Given the description of an element on the screen output the (x, y) to click on. 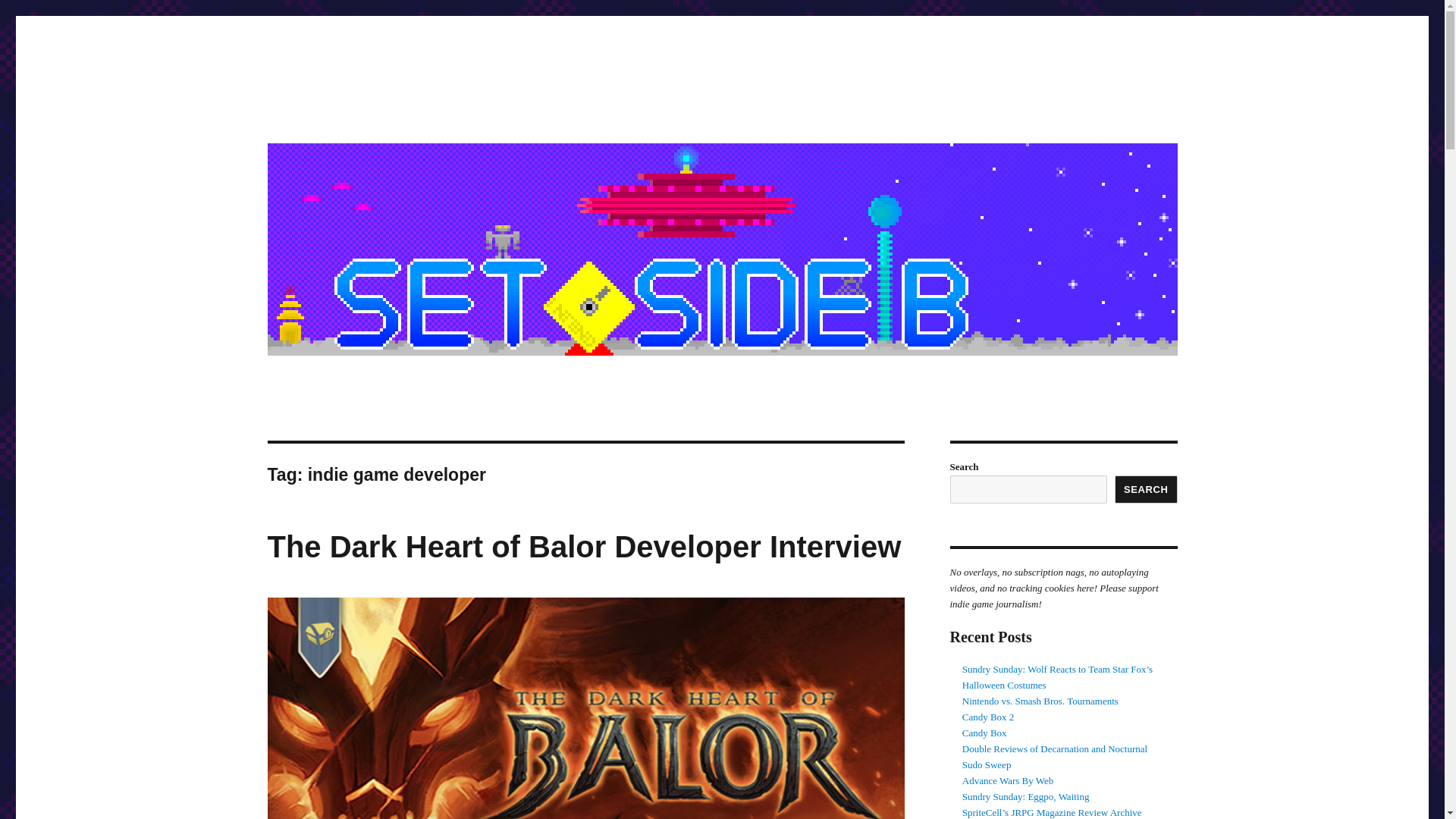
Double Reviews of Decarnation and Nocturnal (1054, 748)
Candy Box (984, 732)
Sundry Sunday: Eggpo, Waiting (1025, 796)
Nintendo vs. Smash Bros. Tournaments (1040, 700)
Sudo Sweep (986, 764)
Candy Box 2 (988, 716)
Set Side B (318, 114)
Advance Wars By Web (1008, 780)
SEARCH (1146, 489)
The Dark Heart of Balor Developer Interview (583, 546)
